Given the description of an element on the screen output the (x, y) to click on. 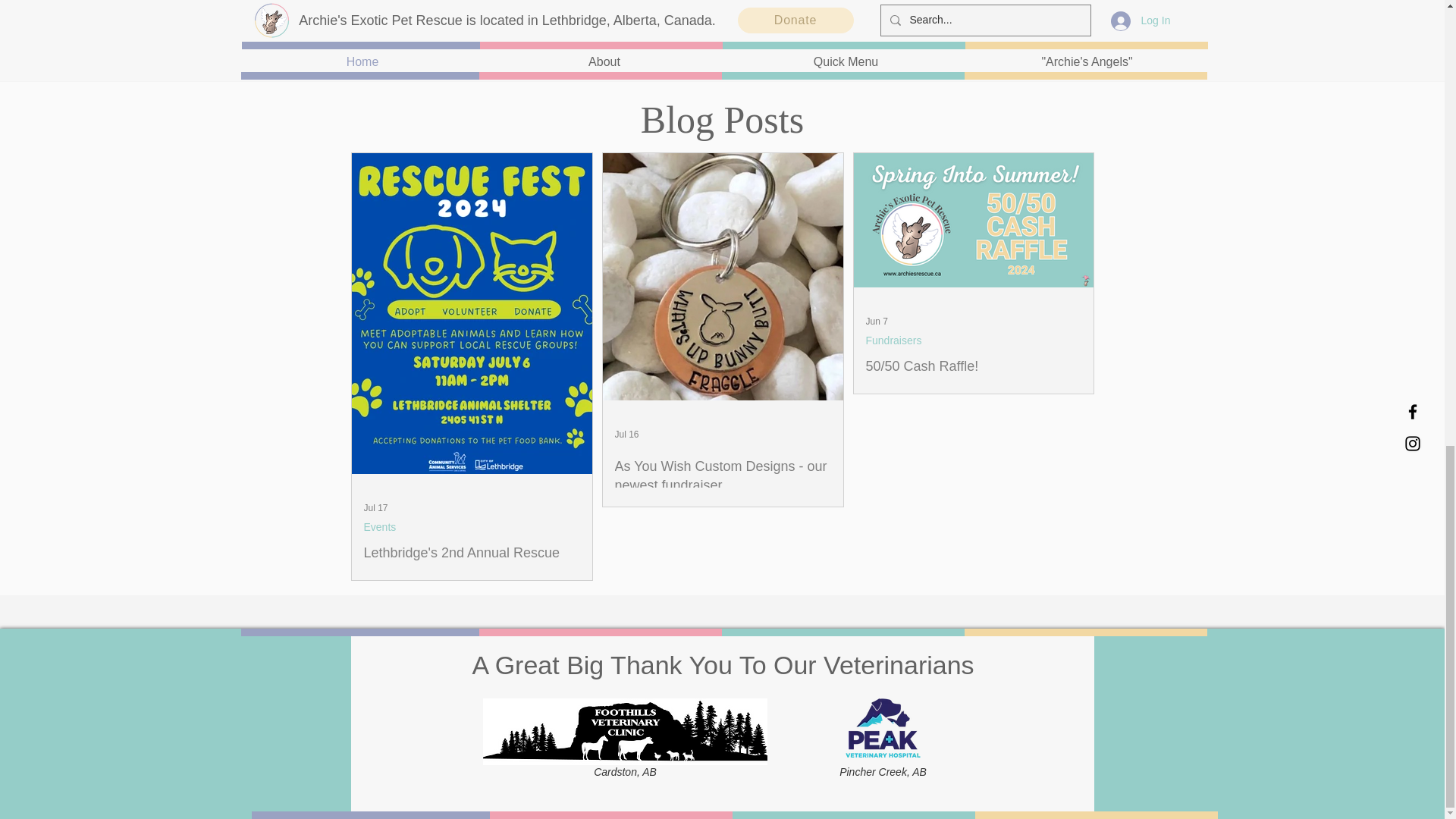
Events (380, 526)
Jul 16 (626, 434)
As You Wish Custom Designs - our newest fundraiser (721, 476)
Jul 17 (376, 507)
Lethbridge's 2nd Annual Rescue Fest (471, 562)
Jun 7 (877, 321)
